Given the description of an element on the screen output the (x, y) to click on. 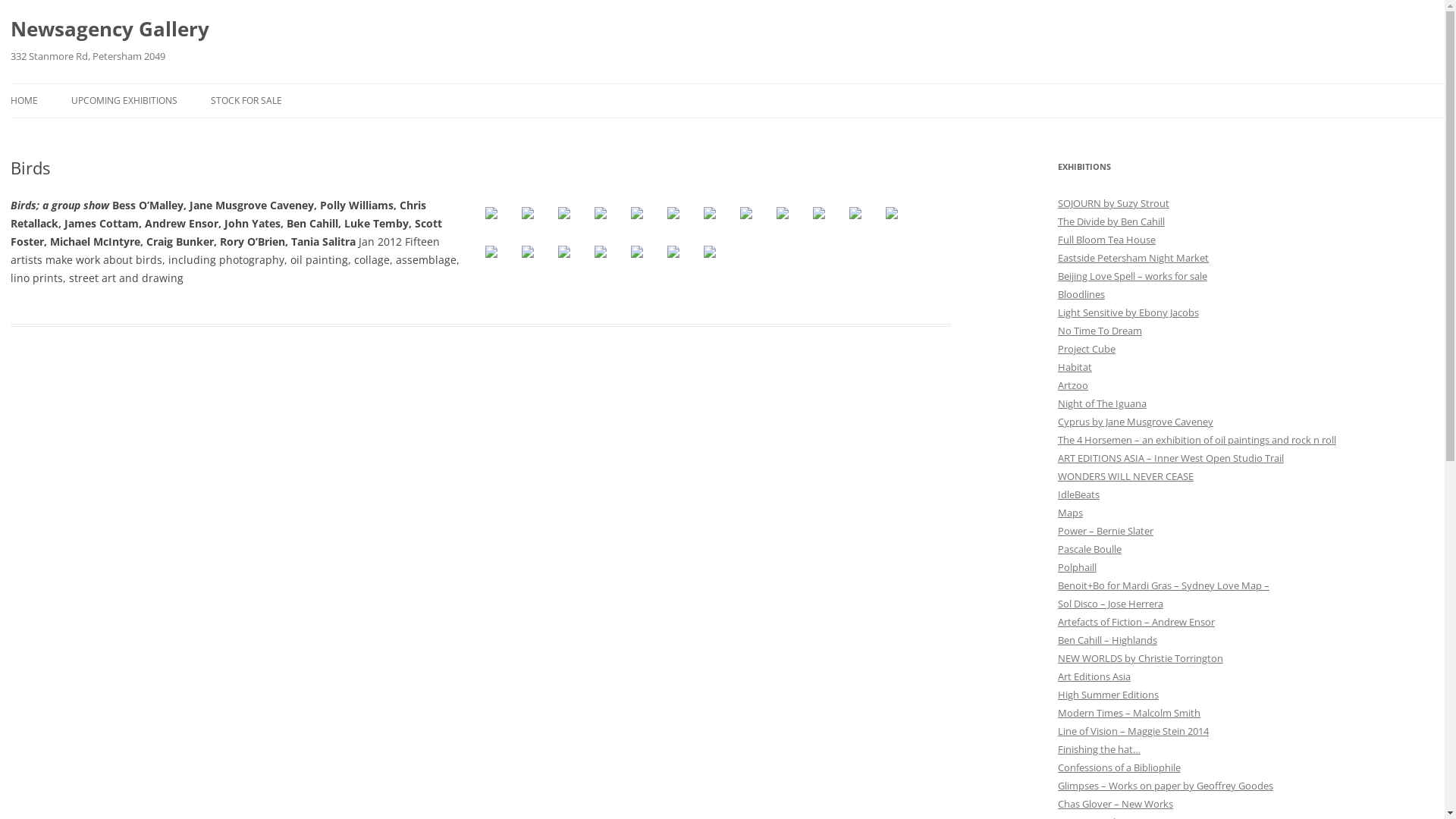
STOCK FOR SALE Element type: text (246, 100)
Newsagency Gallery Element type: text (109, 28)
Maps Element type: text (1069, 512)
WONDERS WILL NEVER CEASE Element type: text (1125, 476)
Confessions of a Bibliophile Element type: text (1118, 767)
Skip to content Element type: text (732, 83)
Eastside Petersham Night Market Element type: text (1132, 257)
Habitat Element type: text (1074, 366)
UPCOMING EXHIBITIONS Element type: text (124, 100)
IdleBeats Element type: text (1078, 494)
Art Editions Asia Element type: text (1093, 676)
Light Sensitive by Ebony Jacobs Element type: text (1127, 312)
Artzoo Element type: text (1072, 385)
Polphaill Element type: text (1076, 567)
Cyprus by Jane Musgrove Caveney Element type: text (1135, 421)
Night of The Iguana Element type: text (1101, 403)
Full Bloom Tea House Element type: text (1106, 239)
Bloodlines Element type: text (1080, 294)
Pascale Boulle Element type: text (1089, 548)
High Summer Editions Element type: text (1107, 694)
HOME Element type: text (23, 100)
The Divide by Ben Cahill Element type: text (1110, 221)
SOJOURN by Suzy Strout Element type: text (1113, 203)
NEW WORLDS by Christie Torrington Element type: text (1140, 658)
No Time To Dream Element type: text (1099, 330)
Project Cube Element type: text (1086, 348)
